Given the description of an element on the screen output the (x, y) to click on. 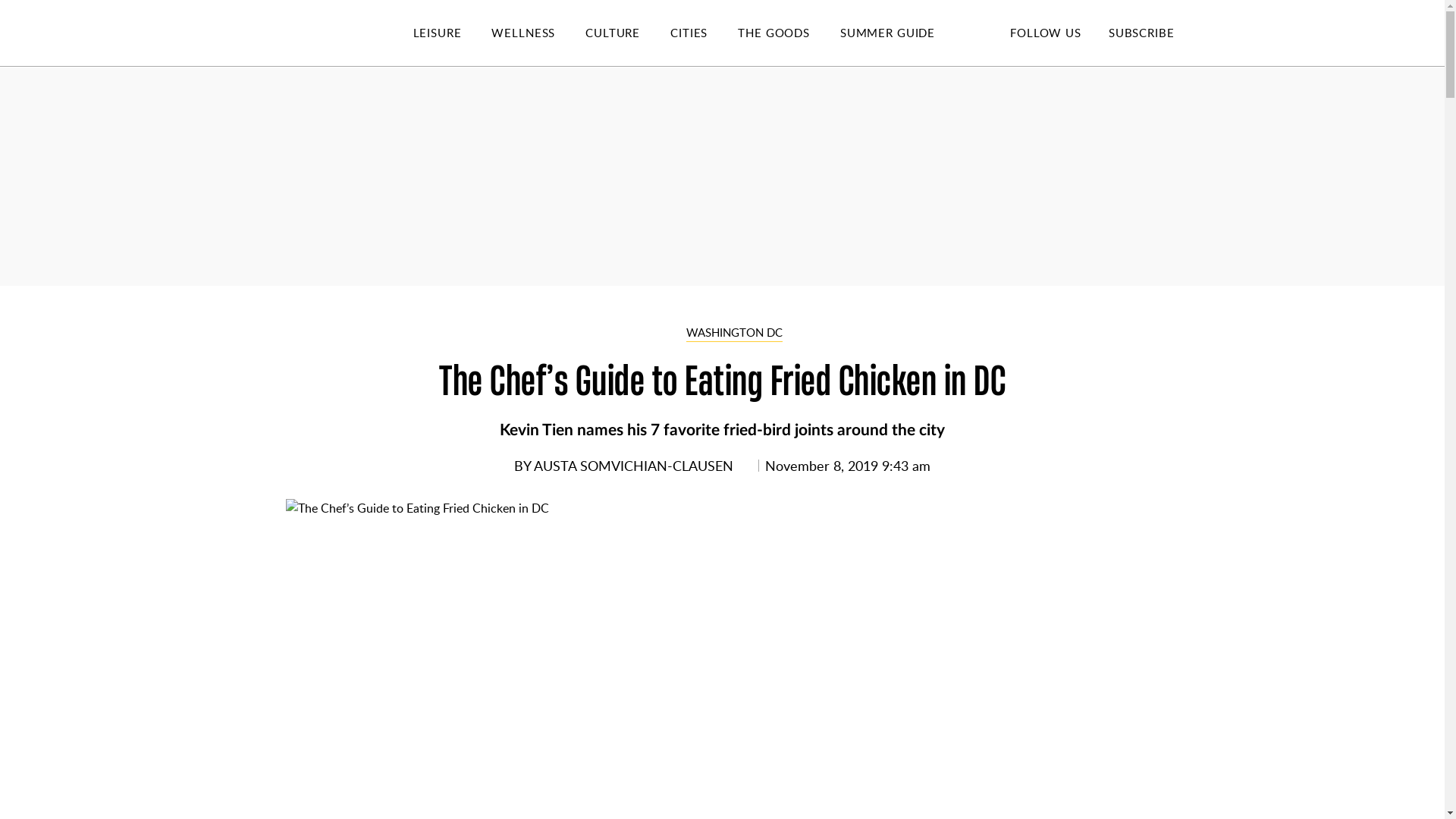
WELLNESS (538, 32)
CULTURE (627, 32)
SUBSCRIBE (1141, 31)
THE GOODS (789, 32)
LEISURE (452, 32)
CITIES (703, 32)
FOLLOW US (1045, 32)
SUMMER GUIDE (902, 32)
